Given the description of an element on the screen output the (x, y) to click on. 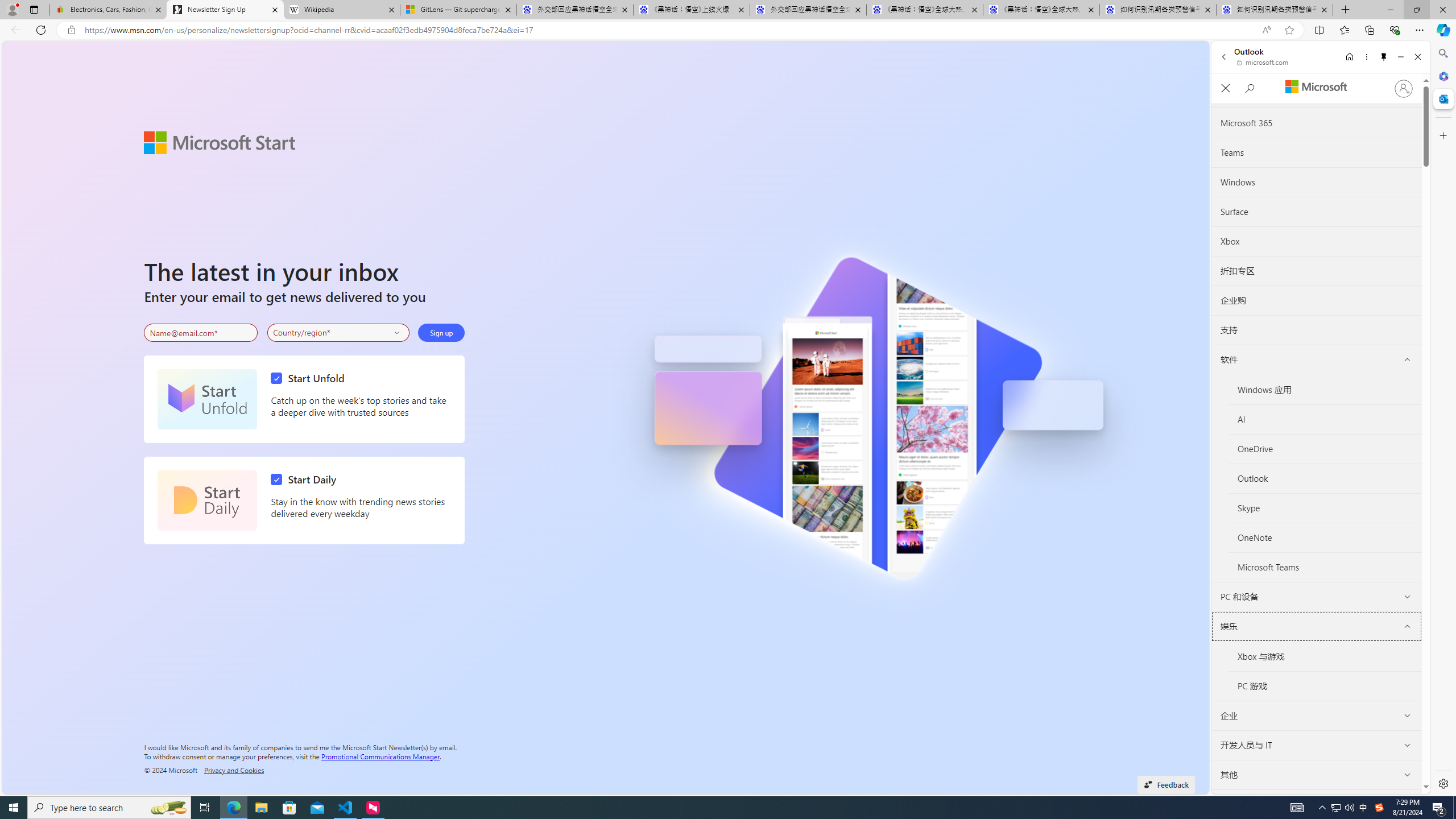
Side bar (1443, 418)
Surface (1316, 211)
Windows (1316, 182)
Outlook (1325, 478)
Close All Microsoft list (1225, 88)
